Given the description of an element on the screen output the (x, y) to click on. 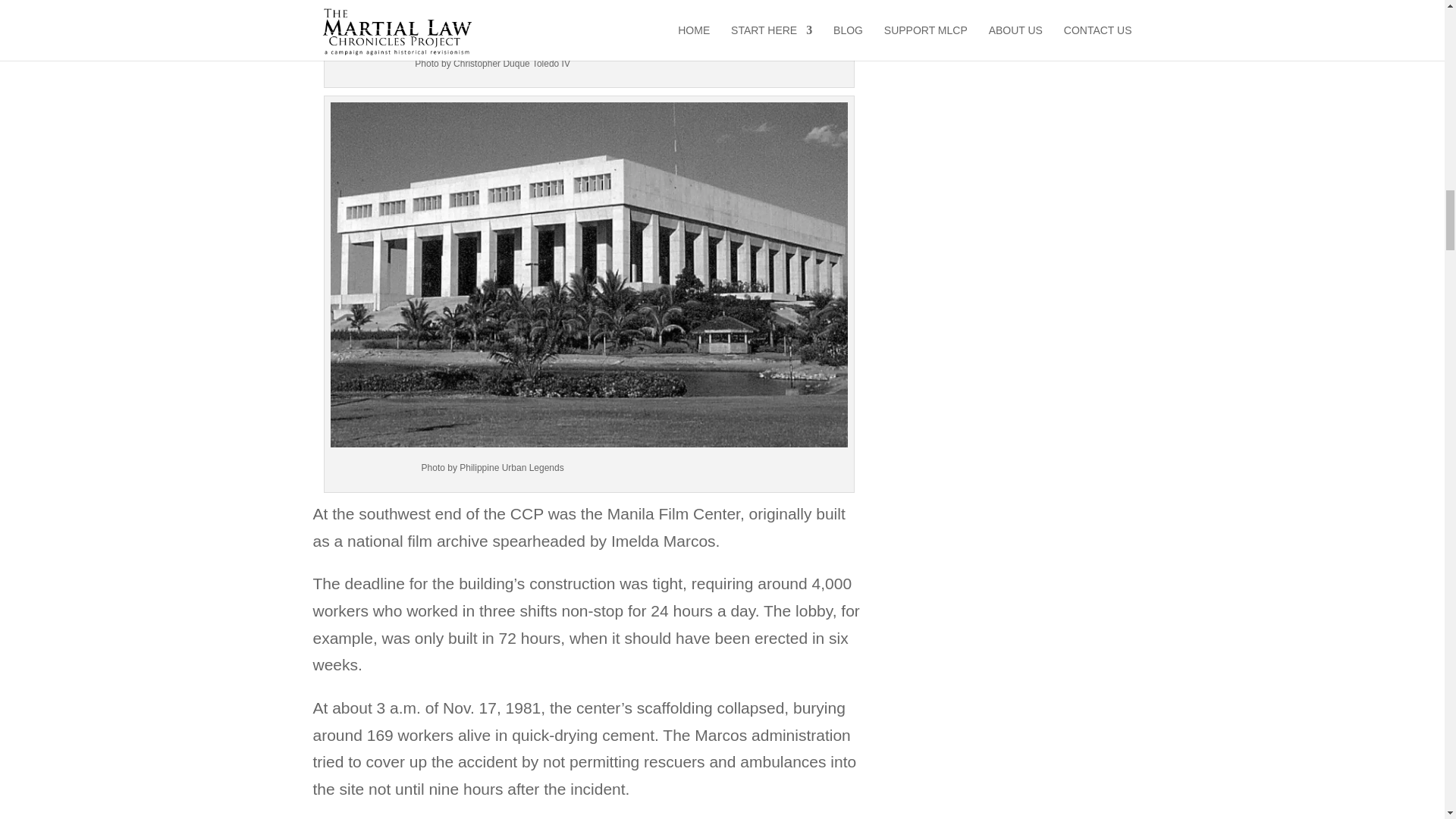
EDIFICE COMPLEX 2 (588, 21)
